Given the description of an element on the screen output the (x, y) to click on. 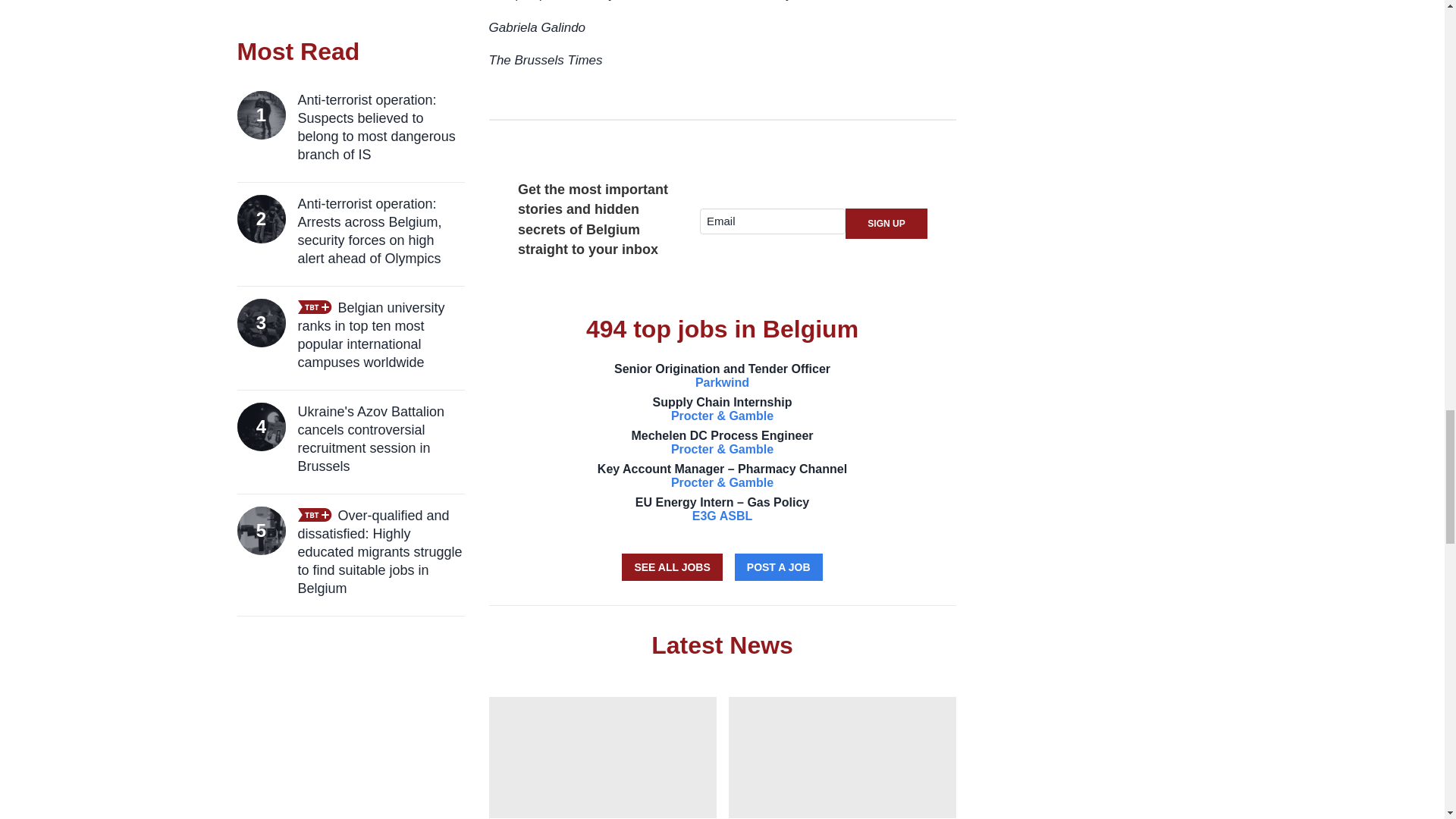
SEE ALL JOBS (721, 375)
494 top jobs in Belgium (671, 566)
POST A JOB (722, 329)
